Given the description of an element on the screen output the (x, y) to click on. 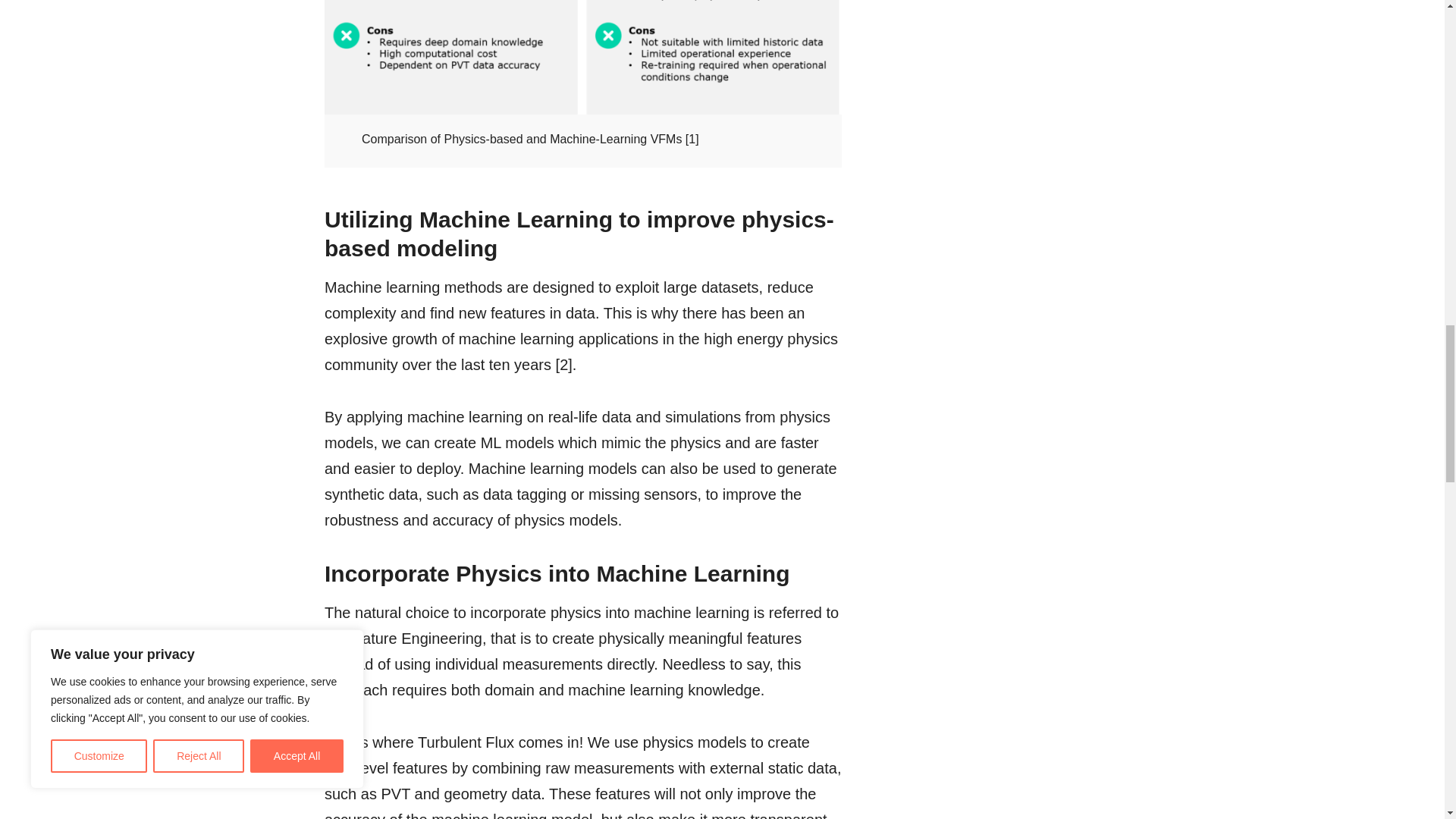
Comparison Physics-based vs Machine-learning models (582, 57)
